Given the description of an element on the screen output the (x, y) to click on. 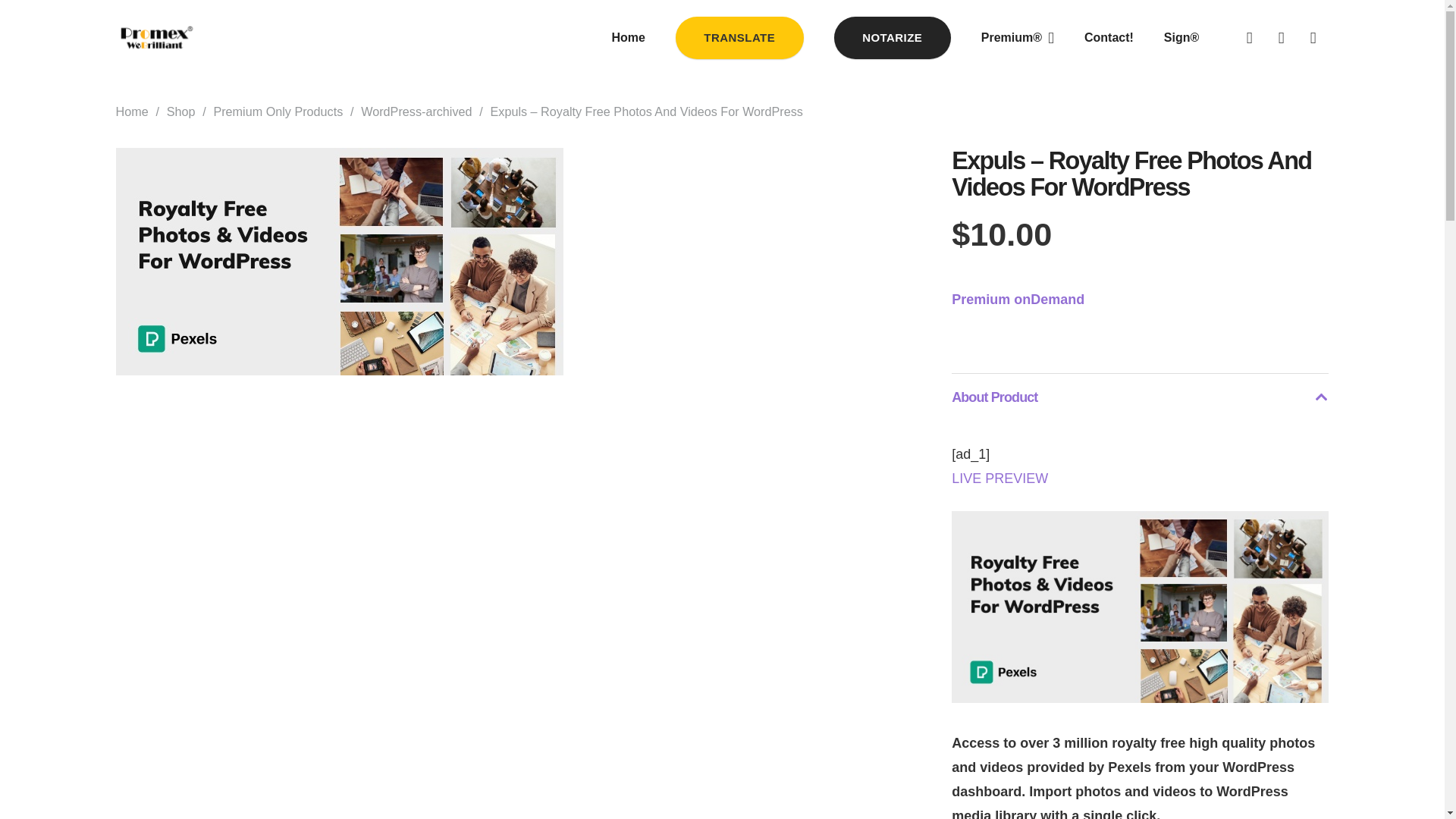
WordPress-archived (416, 110)
About Product (1139, 397)
Apple Store (1281, 38)
NOTARIZE (892, 37)
Shop (181, 110)
Home (131, 110)
TRANSLATE (739, 37)
Google Play (1312, 38)
Expuls - Royalty Free Photos And Videos For WordPress (338, 261)
Premium onDemand (1018, 299)
Contact! (1108, 37)
Facebook (1249, 38)
LIVE PREVIEW (1000, 478)
Home (627, 37)
Premium Only Products (277, 110)
